Given the description of an element on the screen output the (x, y) to click on. 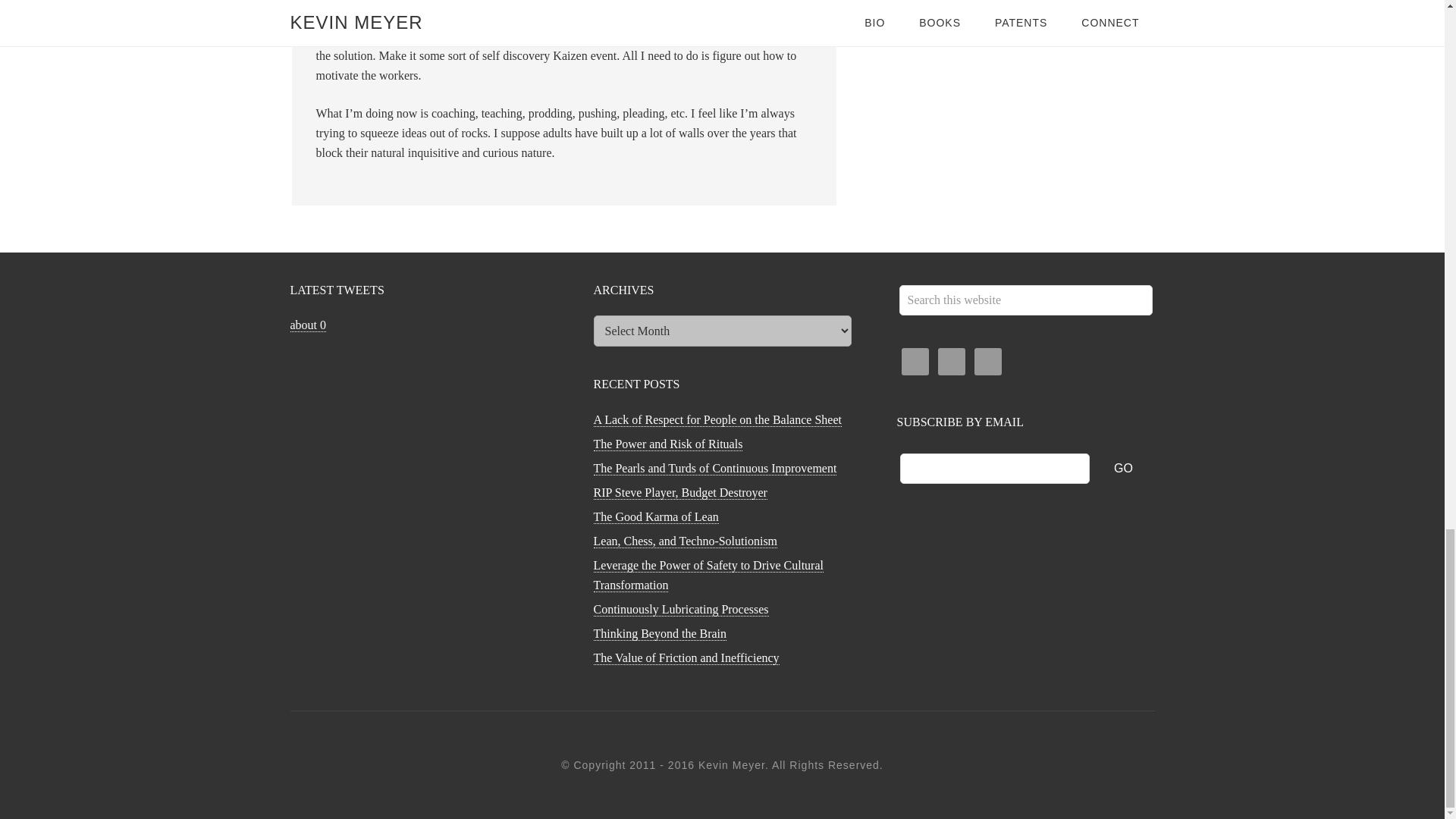
The Pearls and Turds of Continuous Improvement (713, 468)
The Power and Risk of Rituals (667, 444)
Continuously Lubricating Processes (680, 609)
RIP Steve Player, Budget Destroyer (679, 492)
Thinking Beyond the Brain (659, 633)
Go (1123, 468)
A Lack of Respect for People on the Balance Sheet (716, 419)
Lean, Chess, and Techno-Solutionism (684, 540)
The Value of Friction and Inefficiency (685, 658)
The Good Karma of Lean (654, 517)
about 0 (307, 325)
